Given the description of an element on the screen output the (x, y) to click on. 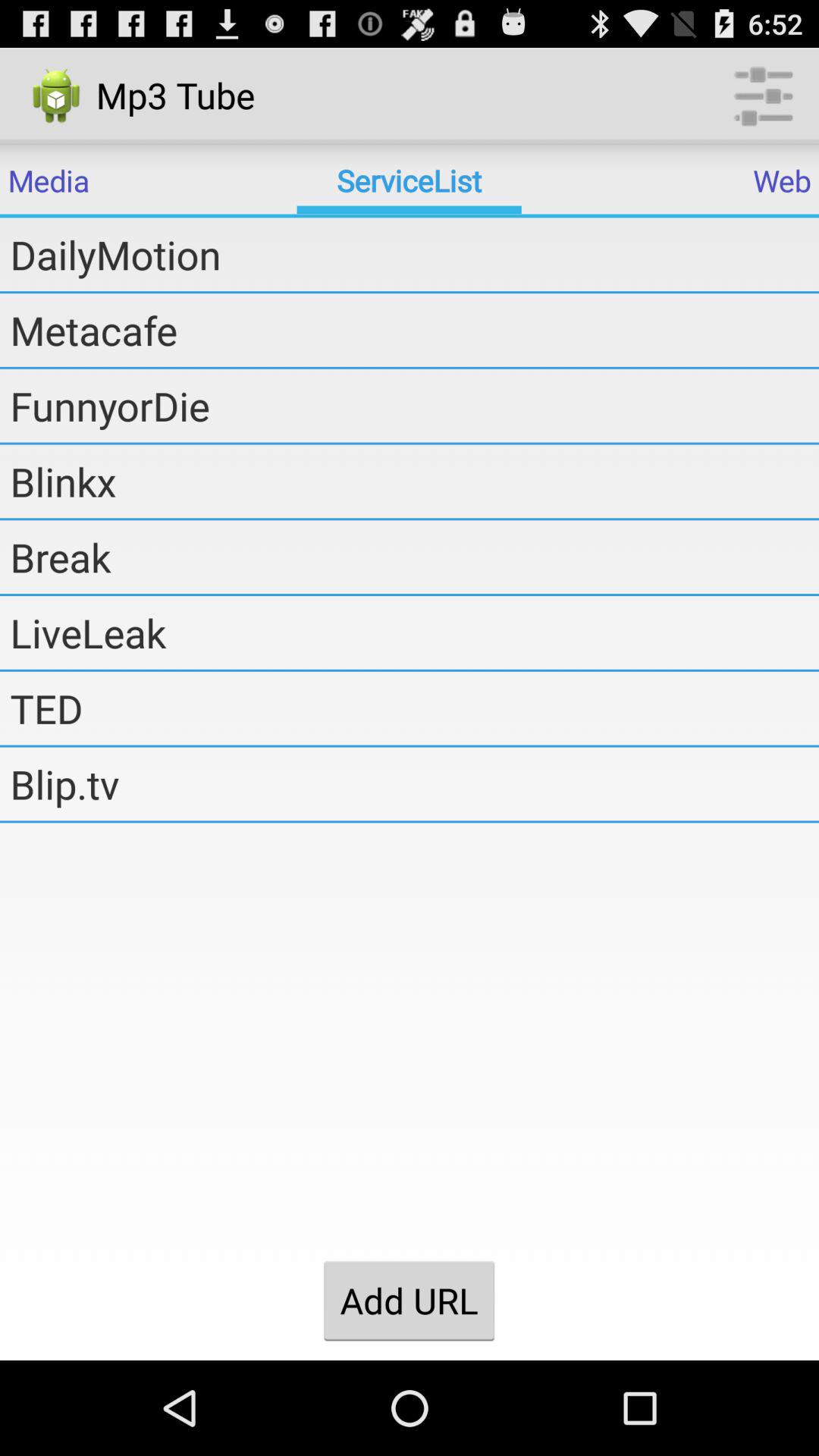
select the item above ted item (414, 632)
